Given the description of an element on the screen output the (x, y) to click on. 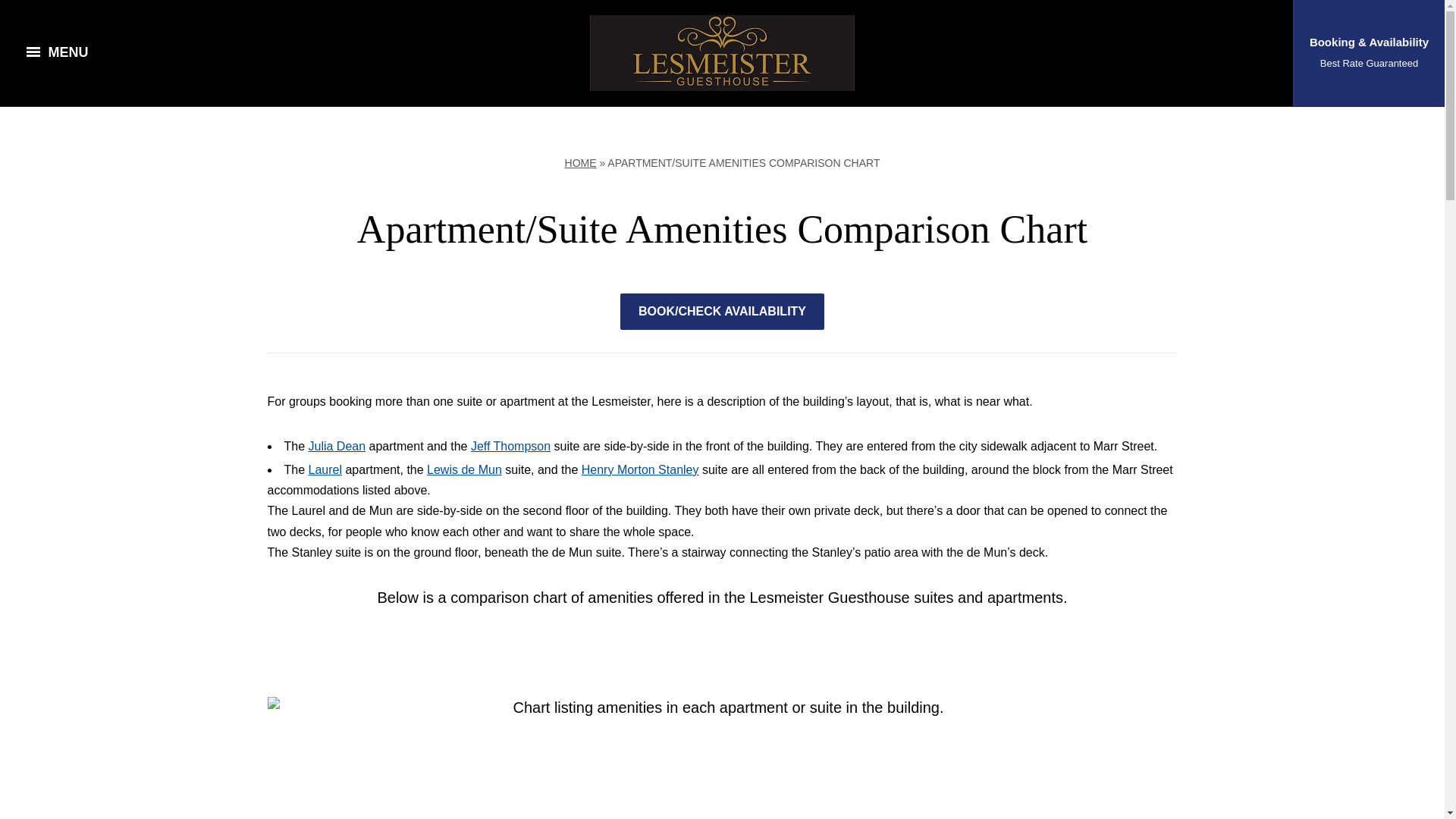
Jeff Thompson (510, 445)
MENU (56, 53)
Henry Morton Stanley (639, 469)
HOME (580, 162)
Lewis de Mun (464, 469)
Laurel (325, 469)
Julia Dean (337, 445)
